Given the description of an element on the screen output the (x, y) to click on. 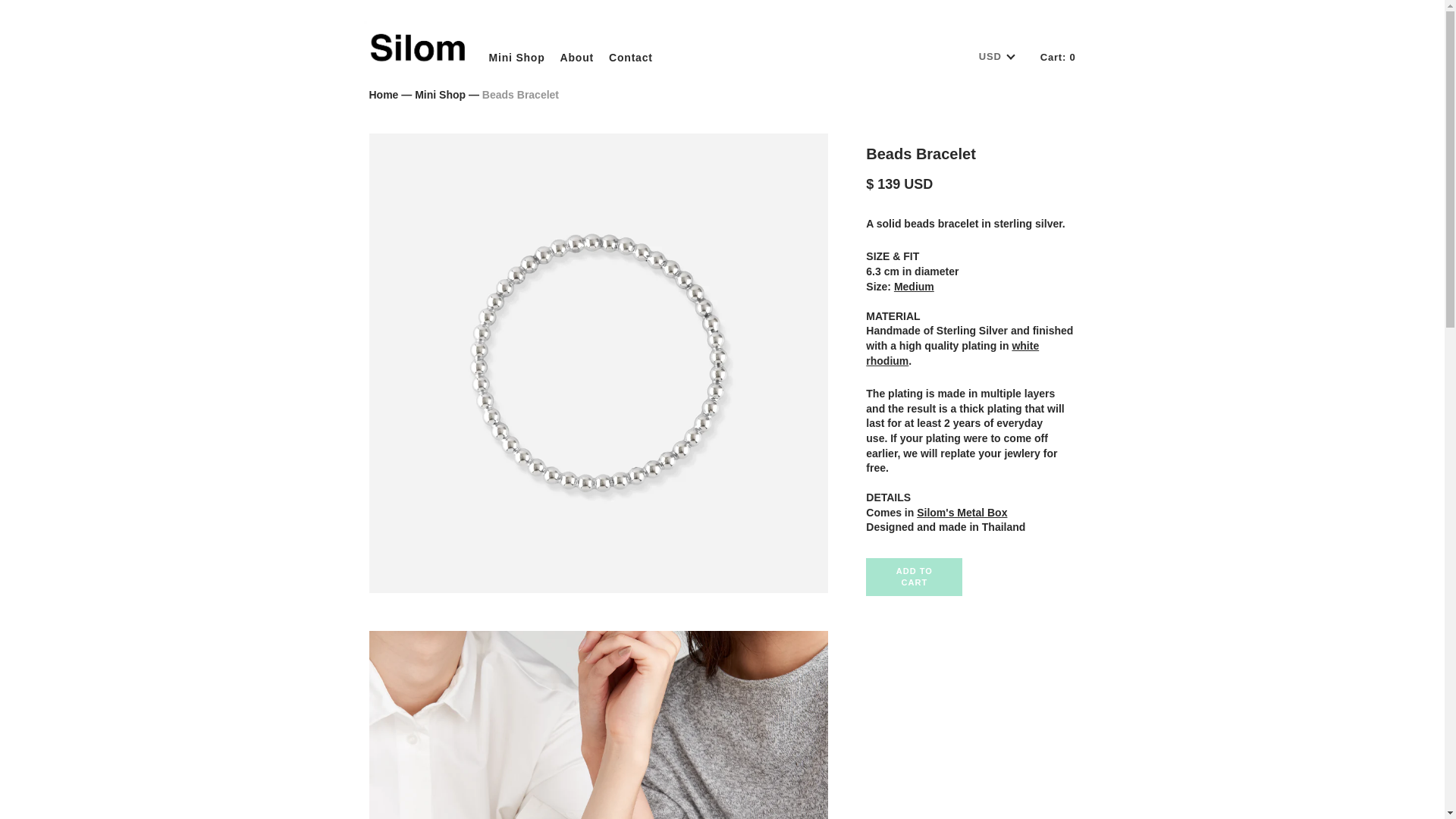
Mini Shop (508, 51)
Home (382, 94)
Contact (623, 51)
Medium (913, 286)
About (569, 51)
Silom's Metal Box (962, 512)
ADD TO CART (914, 576)
Cart: 0 (1058, 57)
Mini Shop (439, 94)
Home (382, 94)
white rhodium (952, 352)
